Given the description of an element on the screen output the (x, y) to click on. 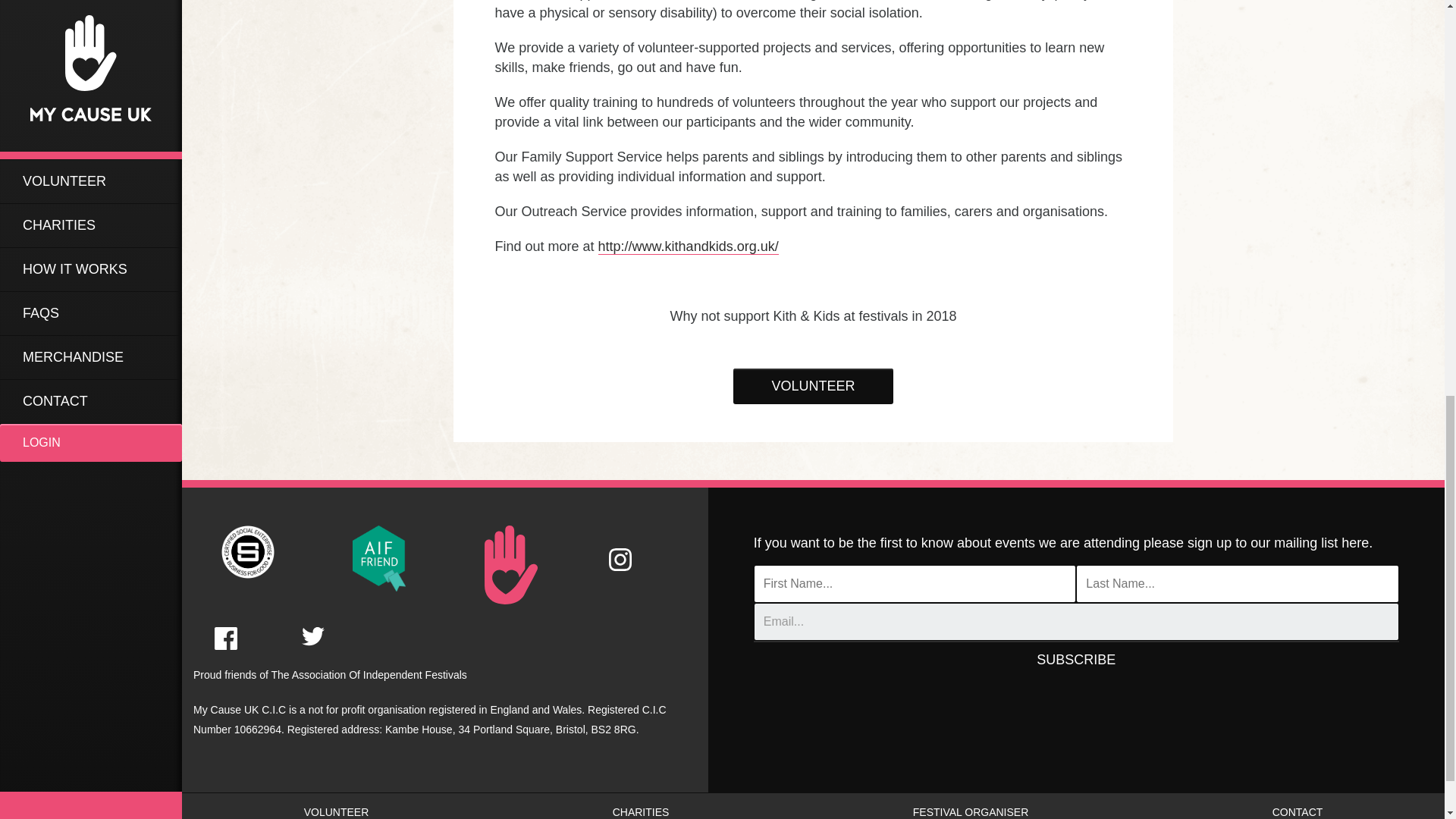
FESTIVAL ORGANISER (970, 806)
Subscribe (1076, 659)
VOLUNTEER (812, 386)
My Cause UK (510, 563)
CHARITIES (640, 806)
My Cause UK (225, 626)
My Cause UK (379, 557)
My Cause UK (619, 547)
My Cause UK (312, 623)
My Cause UK (248, 550)
